Given the description of an element on the screen output the (x, y) to click on. 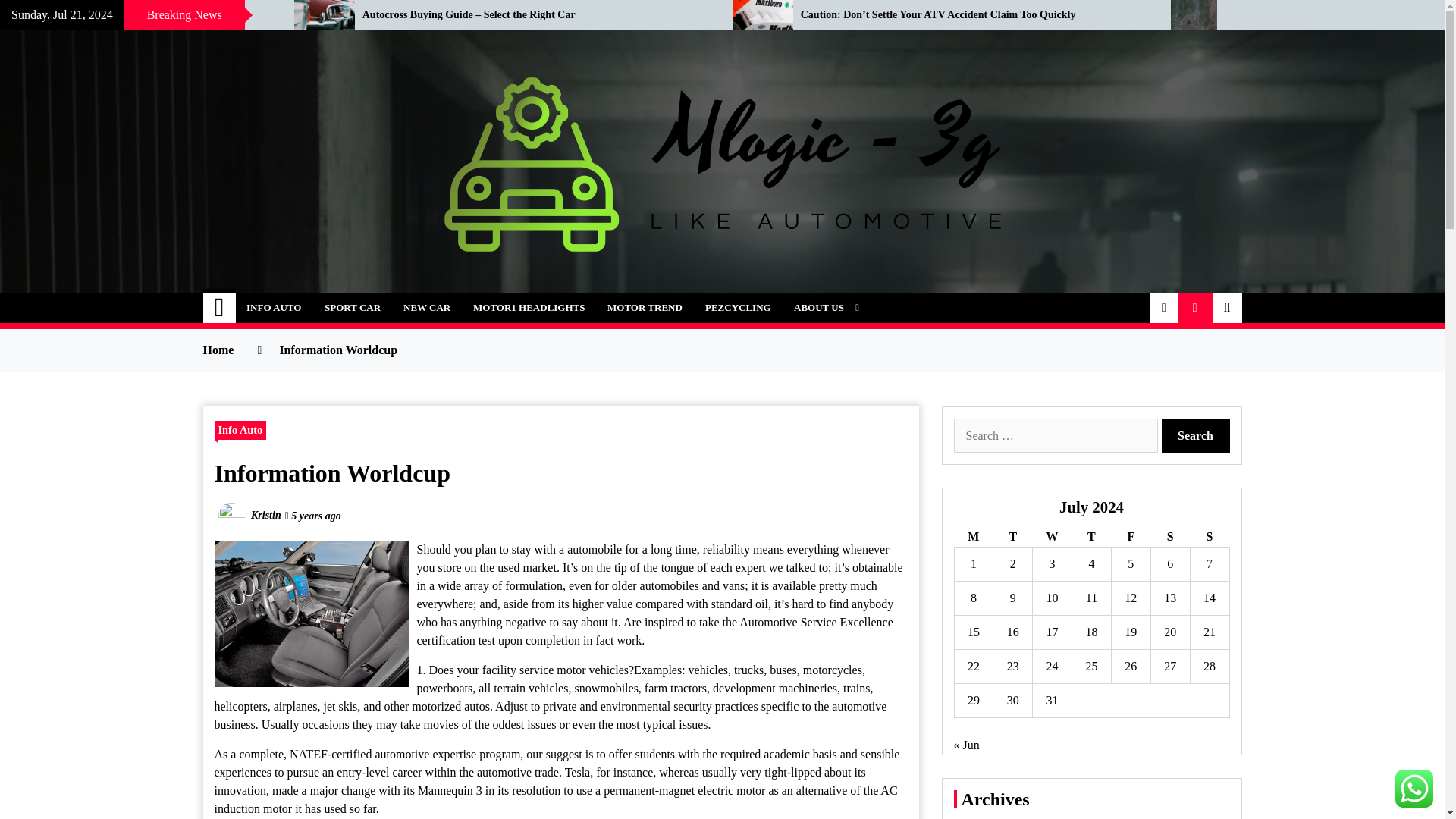
Search (1195, 435)
Tuesday (1012, 537)
Wednesday (1051, 537)
Monday (972, 537)
Saturday (1169, 537)
Sunday (1208, 537)
Home (219, 307)
Thursday (1091, 537)
Friday (1130, 537)
Search (1195, 435)
